Given the description of an element on the screen output the (x, y) to click on. 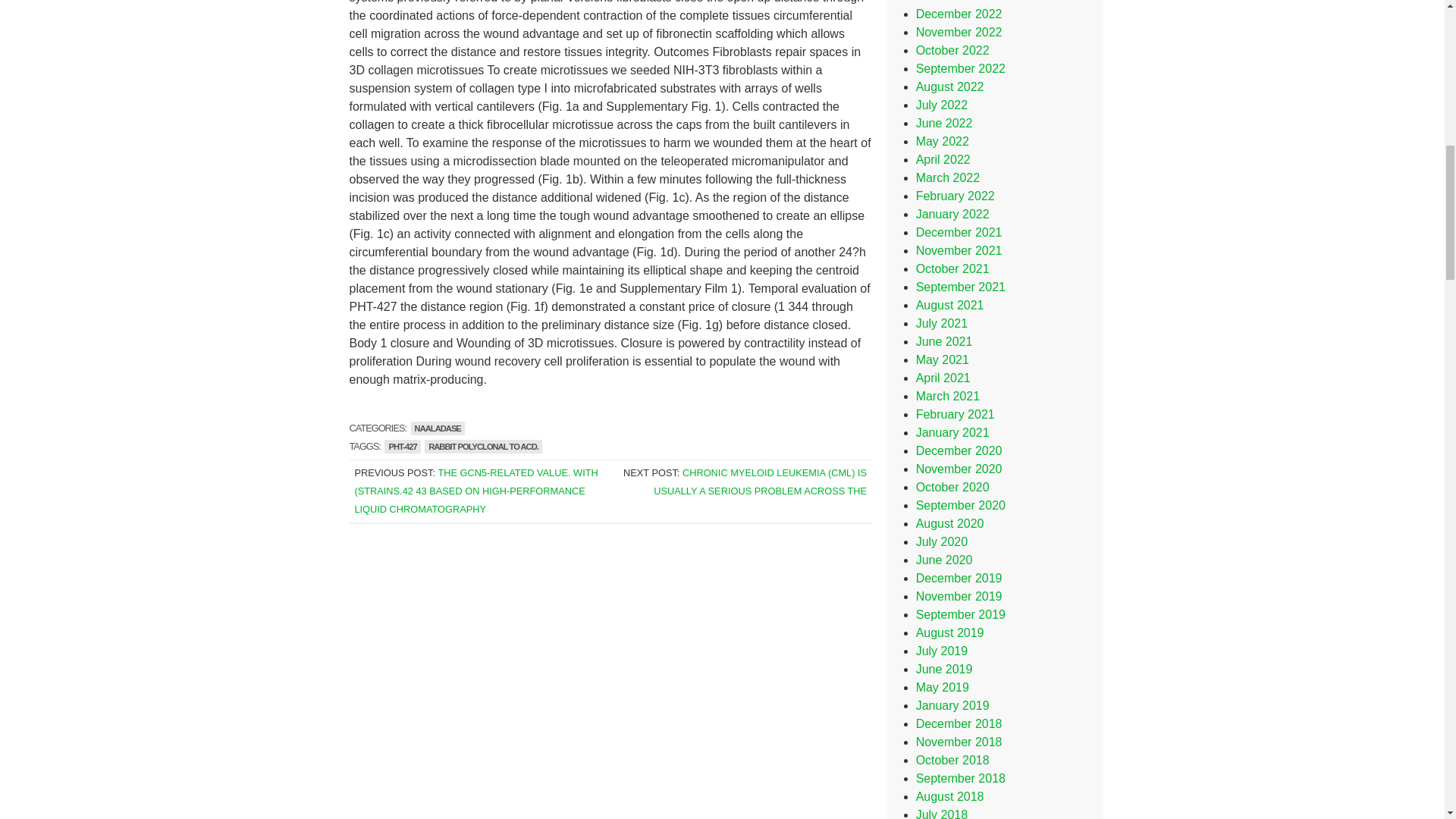
RABBIT POLYCLONAL TO ACD. (483, 446)
December 2022 (959, 13)
June 2022 (943, 123)
December 2021 (959, 232)
July 2022 (941, 104)
September 2022 (960, 68)
May 2022 (942, 141)
January 2022 (952, 214)
August 2021 (949, 305)
November 2021 (959, 250)
February 2022 (954, 195)
October 2022 (952, 50)
NAALADASE (437, 427)
March 2022 (947, 177)
April 2022 (943, 159)
